Given the description of an element on the screen output the (x, y) to click on. 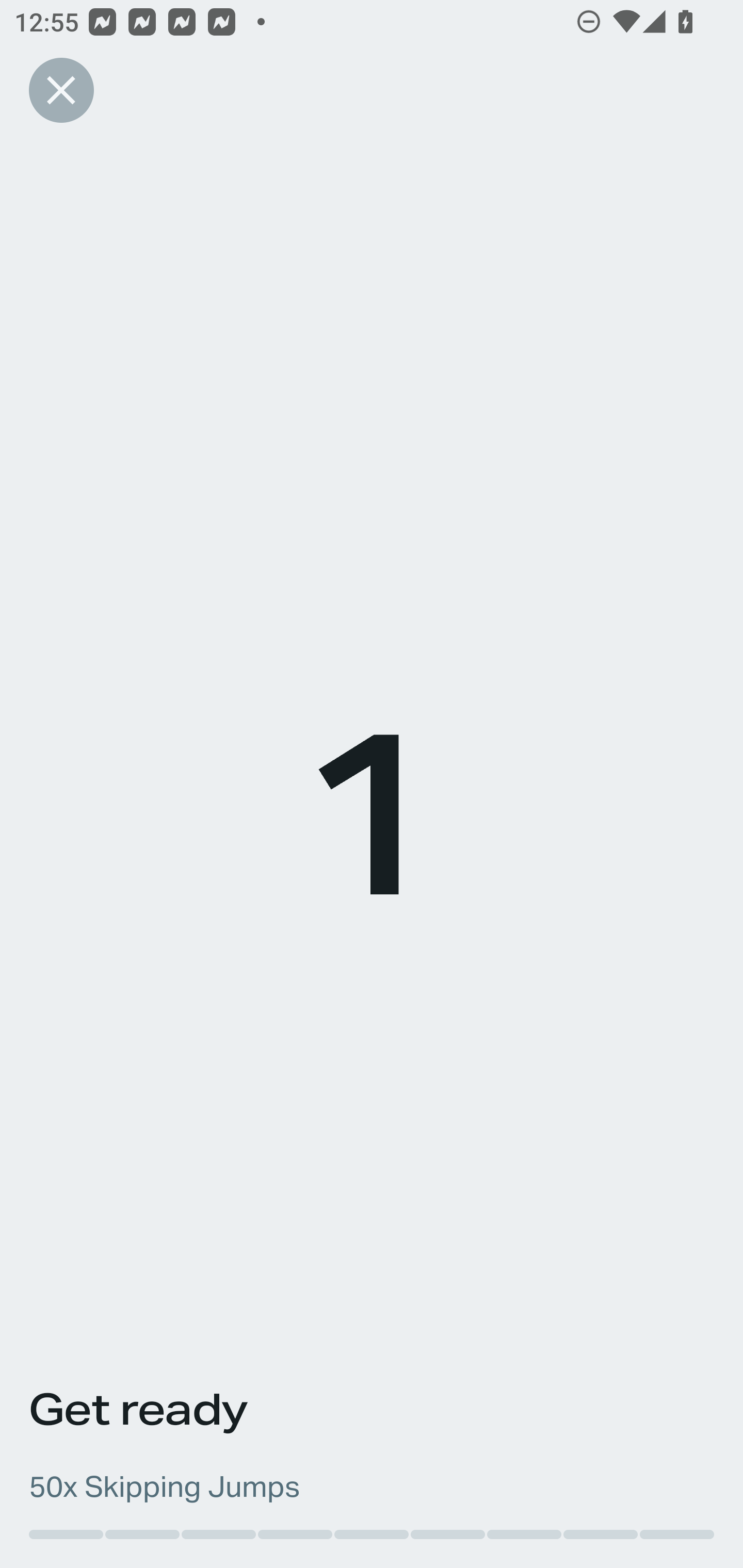
Cancel (60, 90)
